Given the description of an element on the screen output the (x, y) to click on. 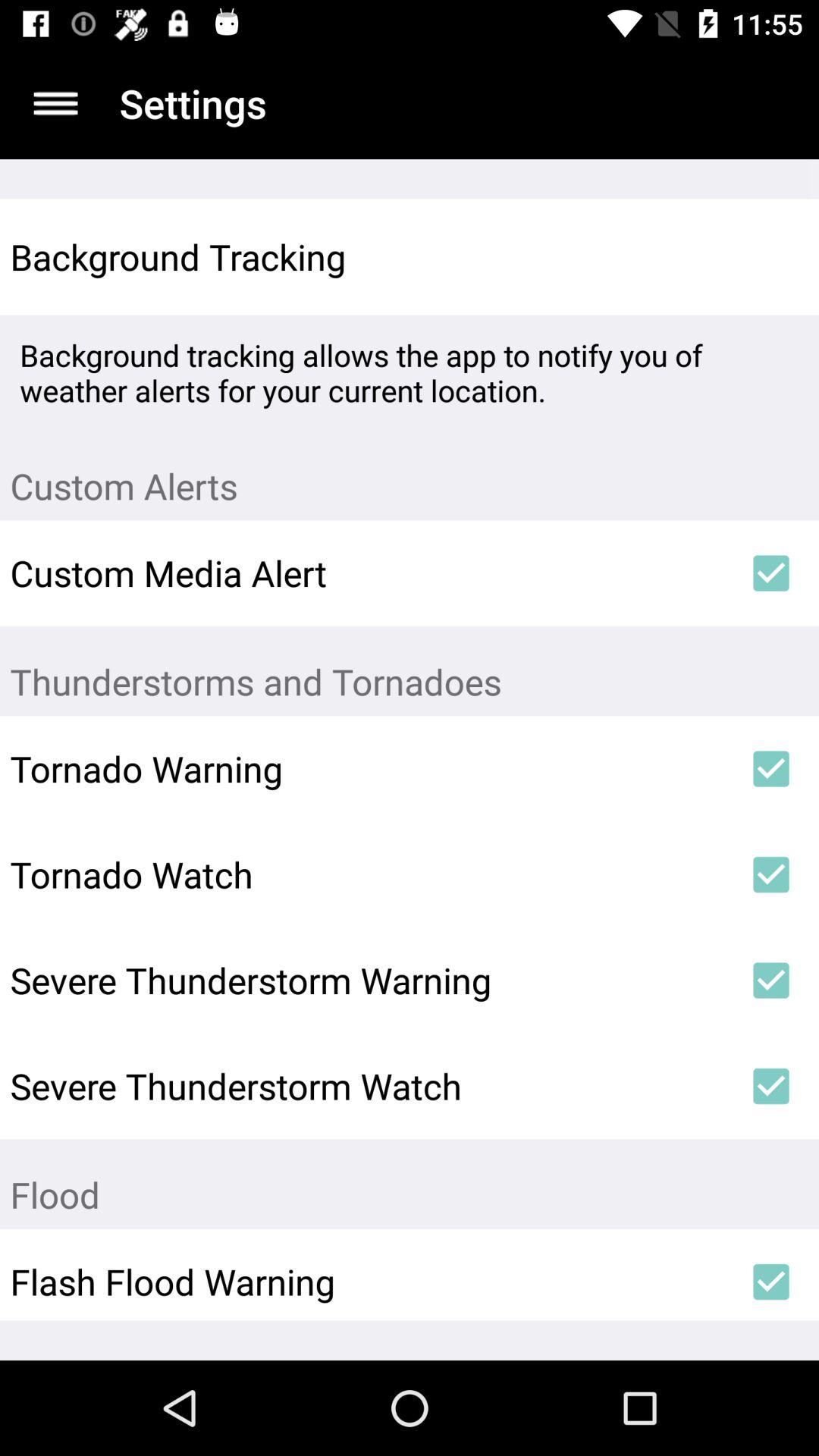
tap icon above thunderstorms and tornadoes item (771, 573)
